Given the description of an element on the screen output the (x, y) to click on. 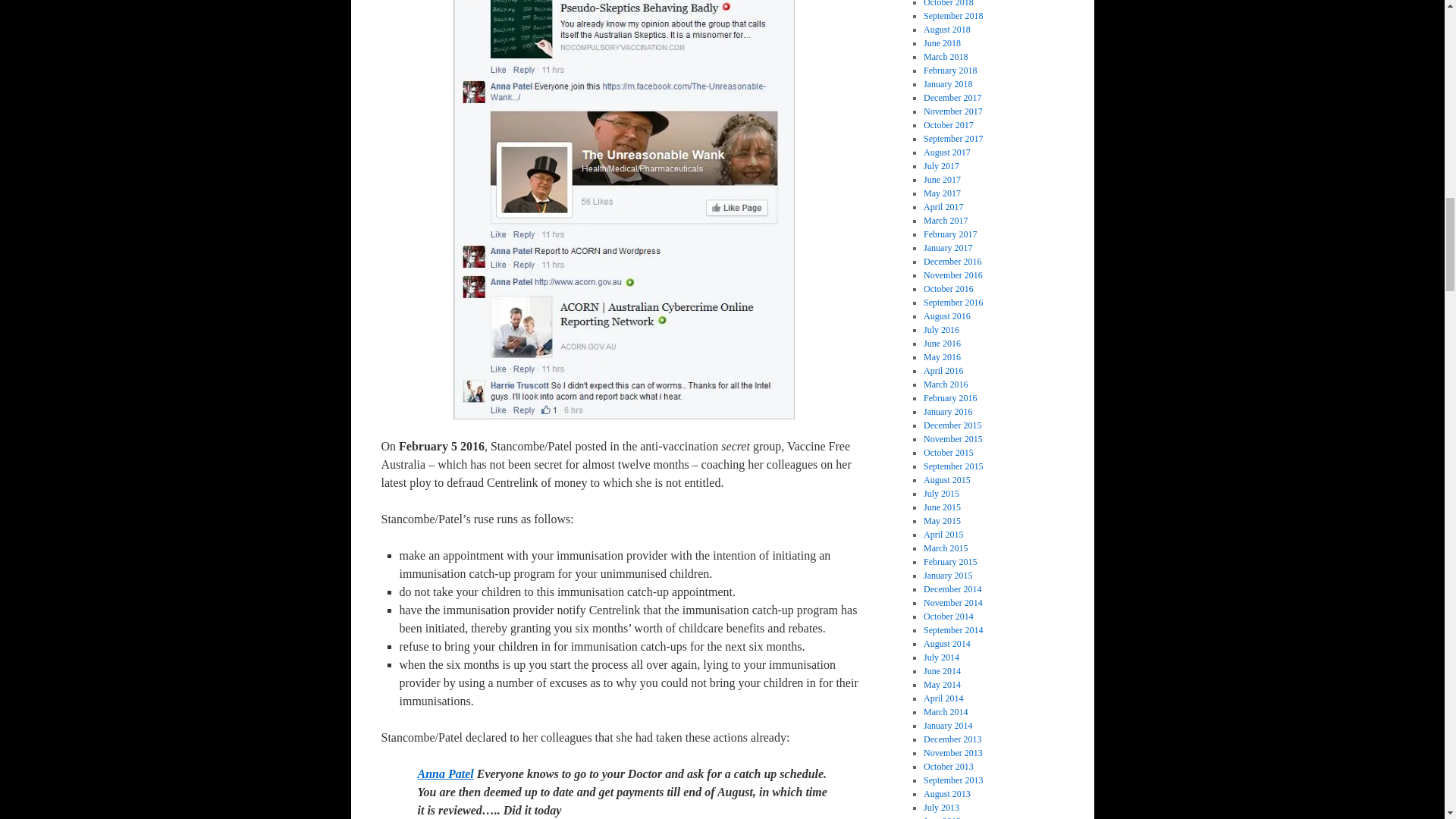
Anna Patel (444, 773)
